Given the description of an element on the screen output the (x, y) to click on. 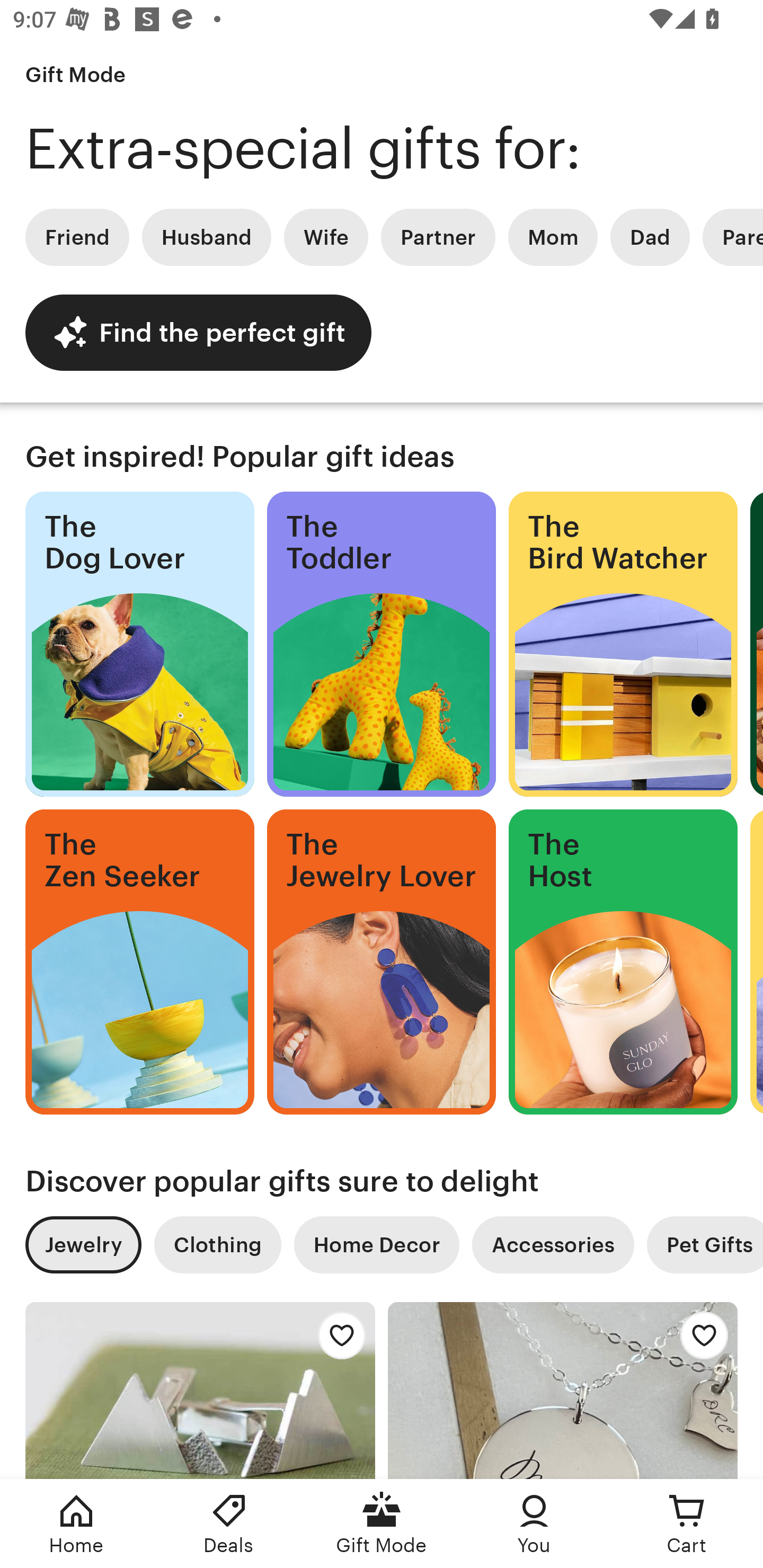
Friend (76, 237)
Husband (206, 237)
Wife (325, 237)
Partner (437, 237)
Mom (552, 237)
Dad (649, 237)
Find the perfect gift (198, 332)
The Dog Lover (139, 644)
The Toddler (381, 644)
The Bird Watcher (622, 644)
The Zen Seeker (139, 961)
The Jewelry Lover (381, 961)
The Host (622, 961)
Jewelry (83, 1244)
Clothing (217, 1244)
Home Decor (376, 1244)
Accessories (553, 1244)
Pet Gifts (705, 1244)
Home (76, 1523)
Deals (228, 1523)
You (533, 1523)
Cart (686, 1523)
